Given the description of an element on the screen output the (x, y) to click on. 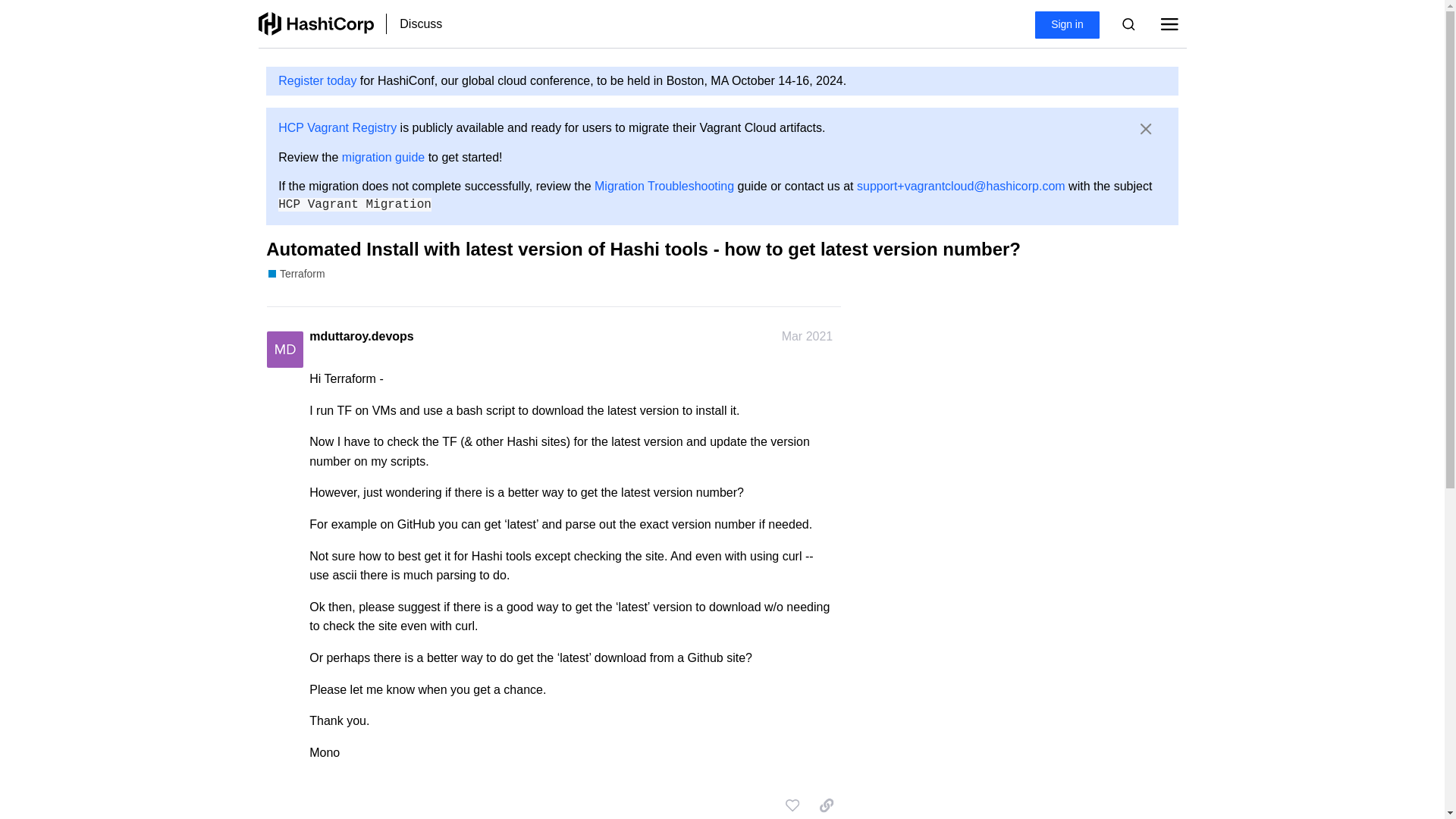
Dismiss this banner (1146, 128)
mduttaroy.devops (360, 336)
Terraform (295, 273)
HCP Vagrant Registry (337, 127)
like this post (791, 805)
Migration Troubleshooting (663, 185)
migration guide (383, 156)
copy a link to this post to clipboard (826, 805)
menu (1168, 23)
Search (1128, 23)
Mar 2021 (806, 336)
Sign in (1067, 25)
Post date (806, 336)
Register today (317, 80)
